Given the description of an element on the screen output the (x, y) to click on. 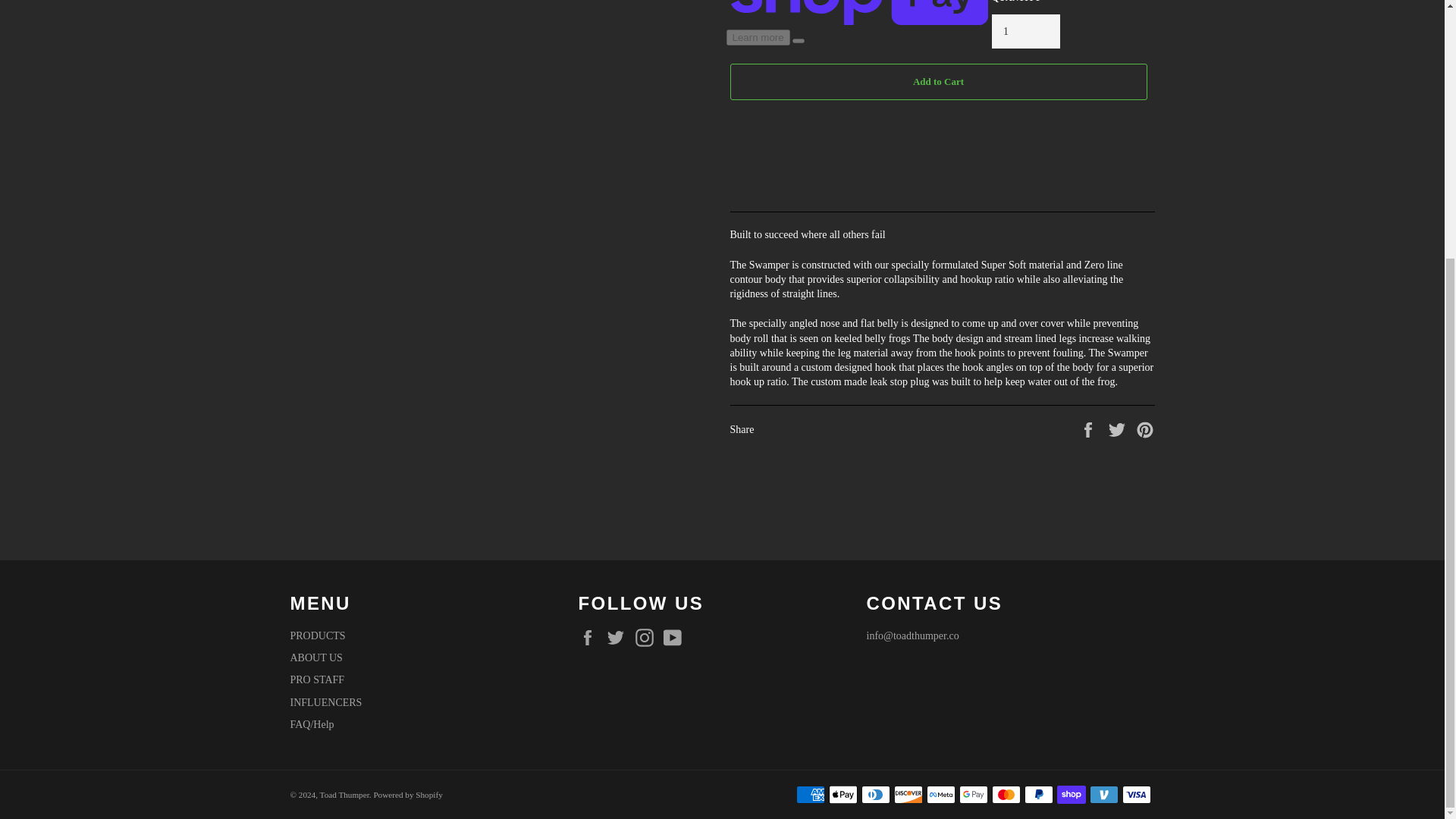
PRO STAFF (316, 679)
Share on Facebook (1089, 428)
Toad Thumper on Twitter (619, 637)
Toad Thumper on Facebook (591, 637)
Toad Thumper on Instagram (647, 637)
Toad Thumper on YouTube (675, 637)
Toad Thumper (344, 794)
1 (1025, 31)
Pin on Pinterest (1144, 428)
ABOUT US (315, 657)
YouTube (675, 637)
PRODUCTS (317, 635)
Tweet on Twitter (1118, 428)
Tweet on Twitter (1118, 428)
INFLUENCERS (325, 702)
